Given the description of an element on the screen output the (x, y) to click on. 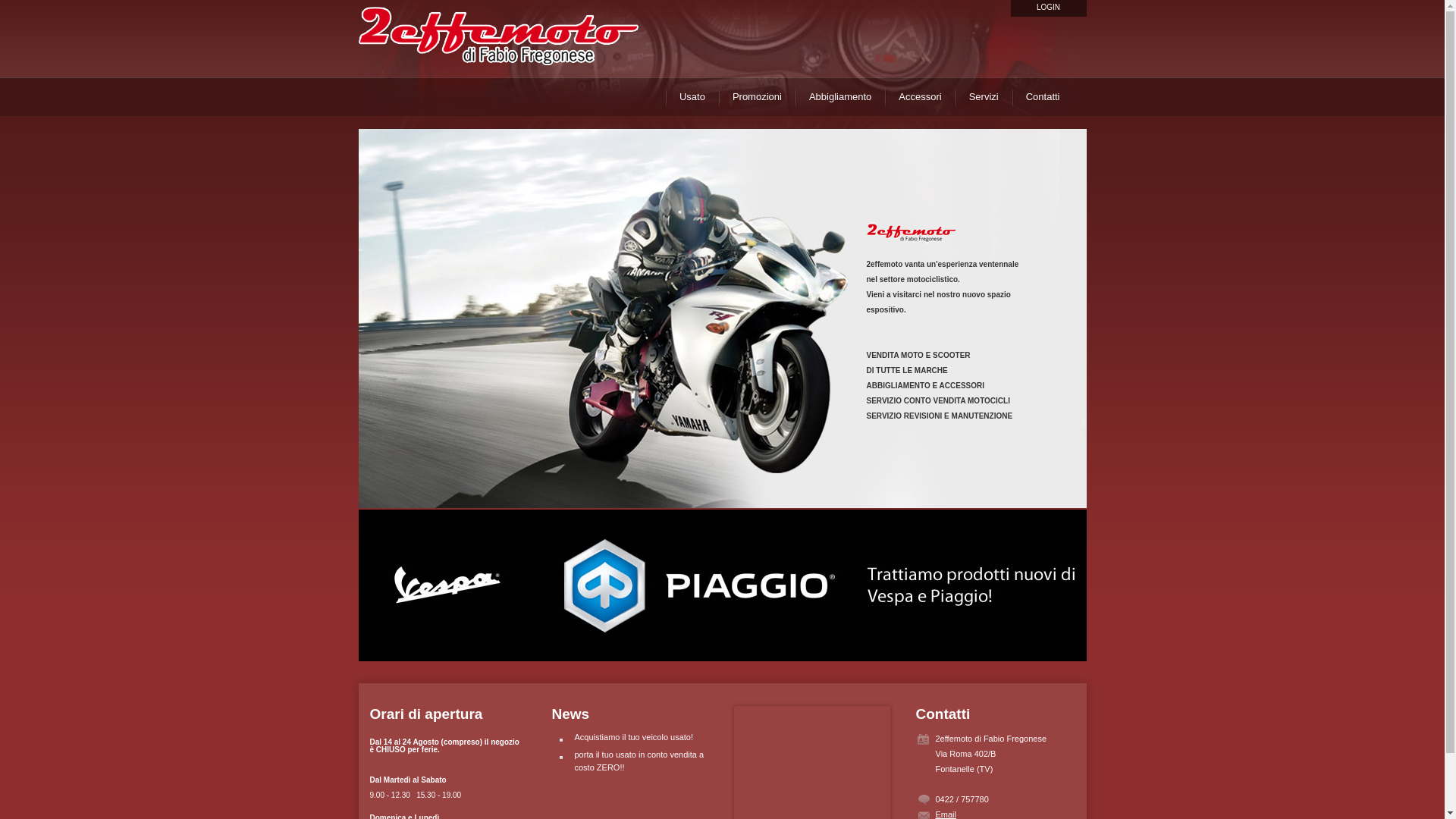
Servizi Element type: text (983, 96)
Accessori Element type: text (919, 96)
Usato Element type: text (692, 96)
Abbigliamento Element type: text (840, 96)
Contatti Element type: text (1049, 96)
Promozioni Element type: text (756, 96)
Acquistiamo il tuo veicolo usato! Element type: text (633, 736)
porta il tuo usato in conto vendita a costo ZERO!! Element type: text (639, 760)
LOGIN Element type: text (1047, 8)
